Given the description of an element on the screen output the (x, y) to click on. 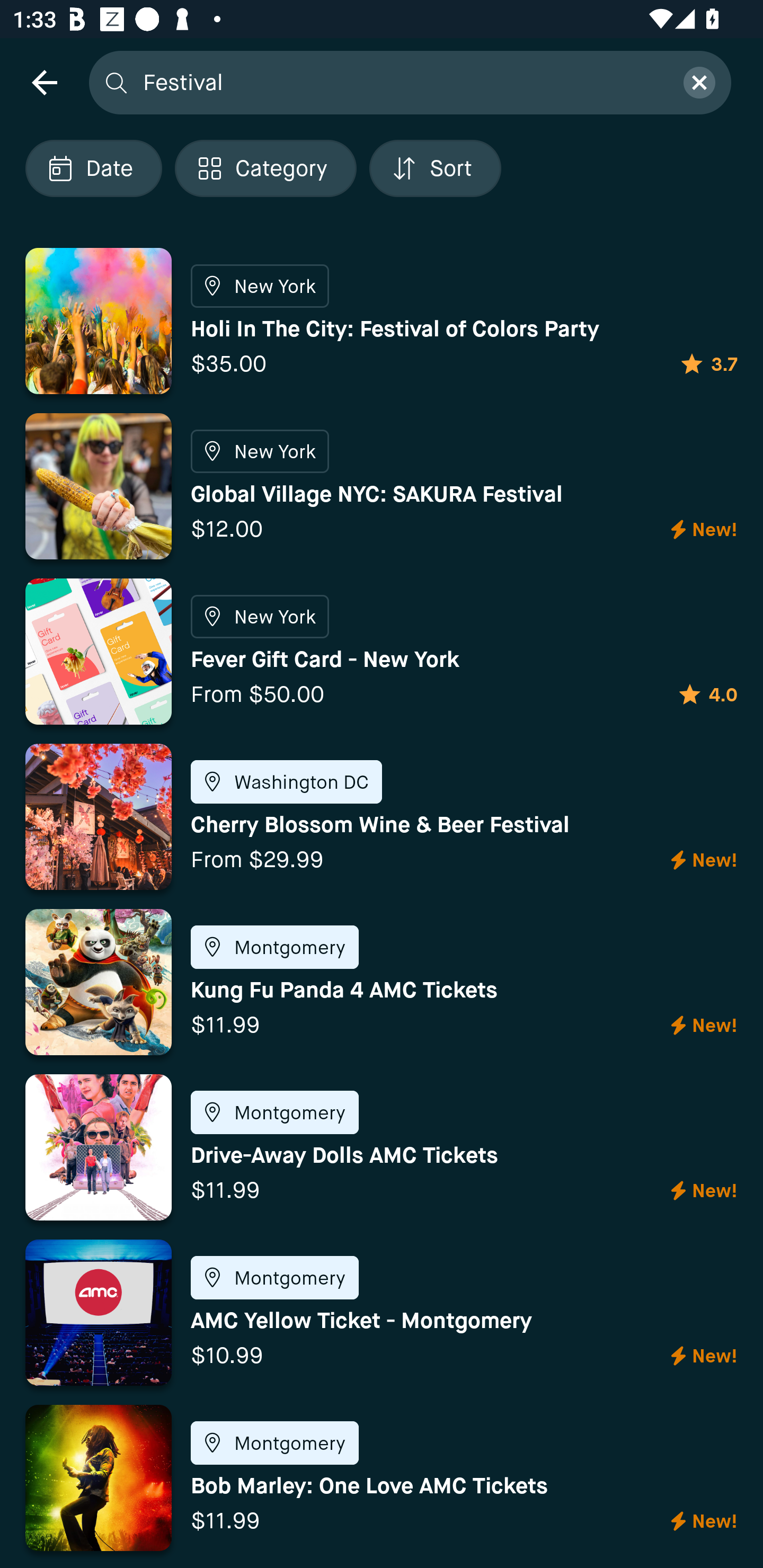
navigation icon (44, 81)
Festival (402, 81)
Localized description Date (93, 168)
Localized description Category (265, 168)
Localized description Sort (435, 168)
